Given the description of an element on the screen output the (x, y) to click on. 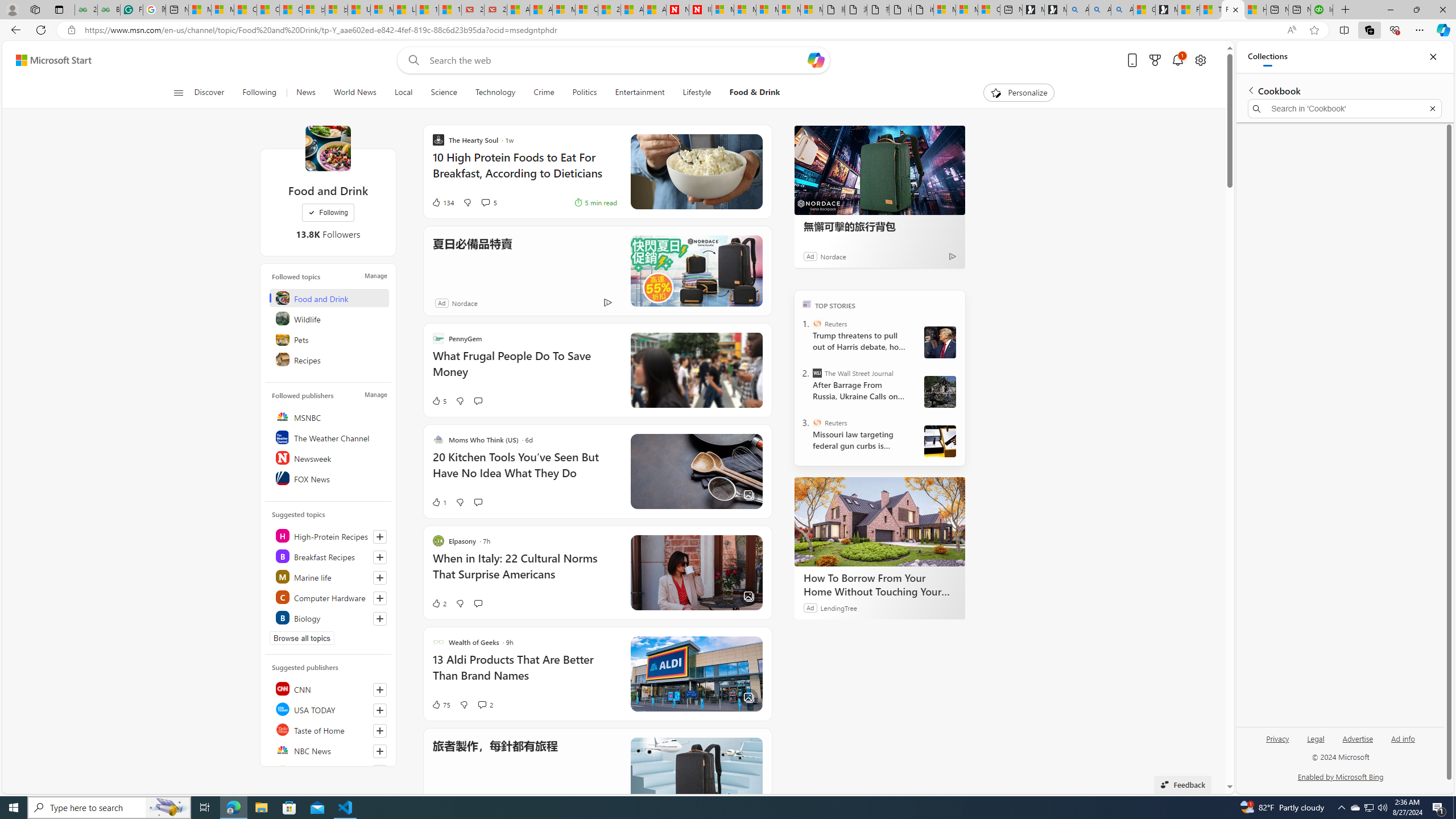
Newsweek - News, Analysis, Politics, Business, Technology (677, 9)
Search in 'Cookbook' (1345, 108)
Follow this source (379, 771)
Class: hero-image (696, 369)
Address and search bar (680, 29)
Class: button-glyph (178, 92)
Discover (208, 92)
USA TODAY (328, 709)
Technology (495, 92)
What Frugal People Do To Save Money (524, 369)
Lifestyle - MSN (404, 9)
World News (355, 92)
